Given the description of an element on the screen output the (x, y) to click on. 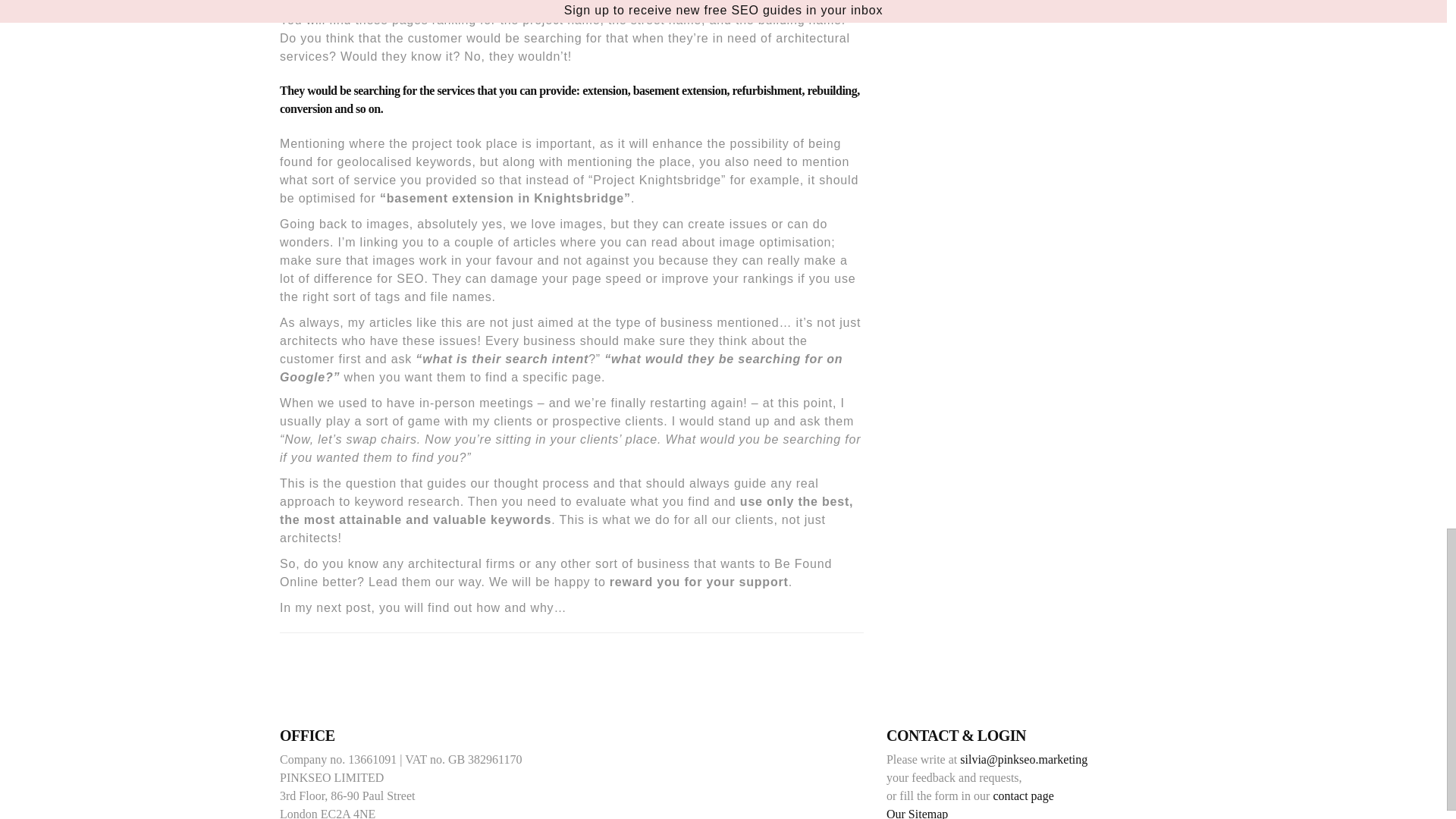
Contact us (1022, 795)
